Given the description of an element on the screen output the (x, y) to click on. 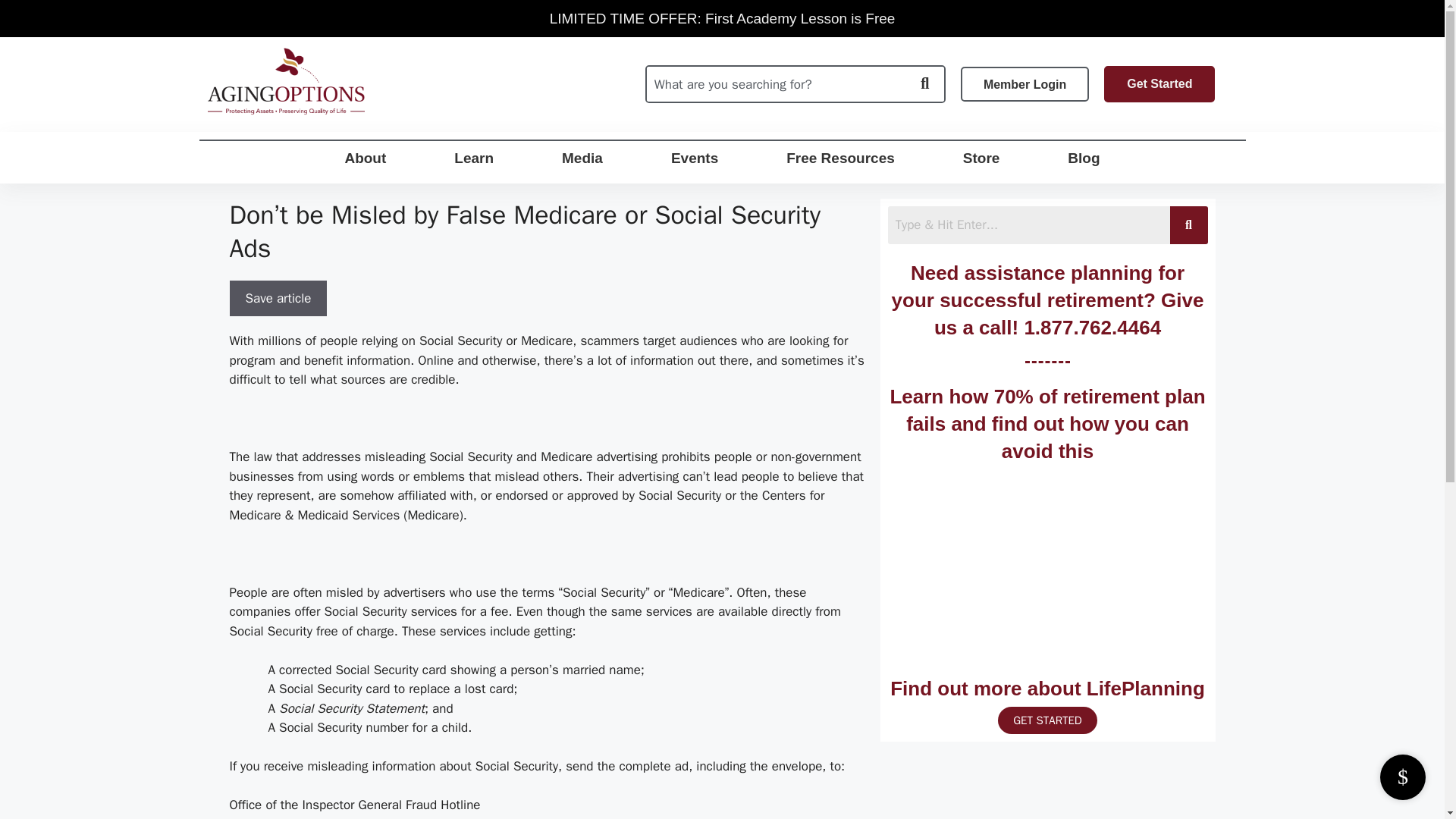
Get Started (1158, 84)
Member Login (1024, 83)
Search (775, 83)
Search (1027, 225)
LIMITED TIME OFFER: First Academy Lesson is Free (722, 18)
